Given the description of an element on the screen output the (x, y) to click on. 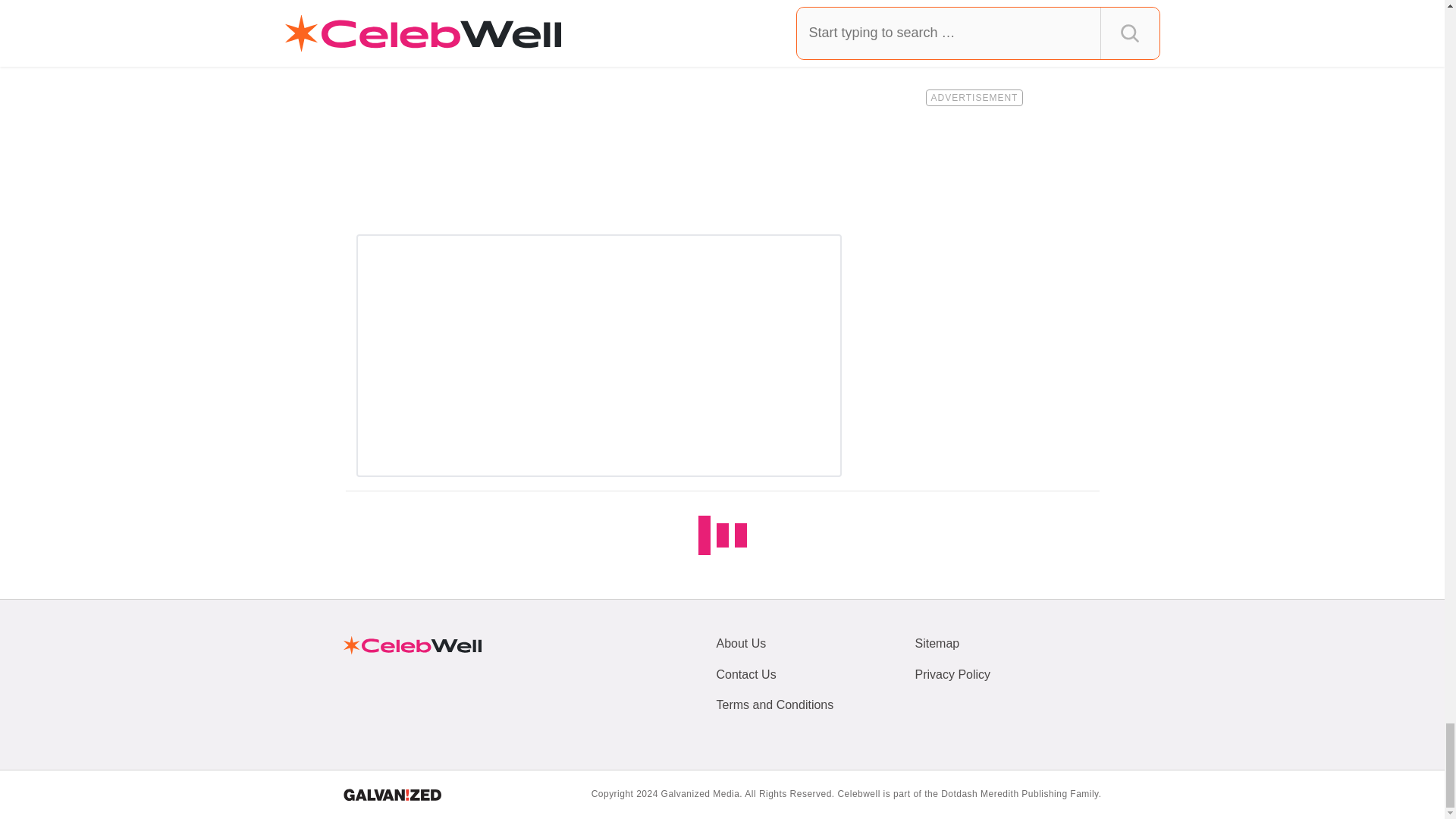
Homepage of Celebwell (411, 644)
Galvanized Media Logo (391, 794)
